Given the description of an element on the screen output the (x, y) to click on. 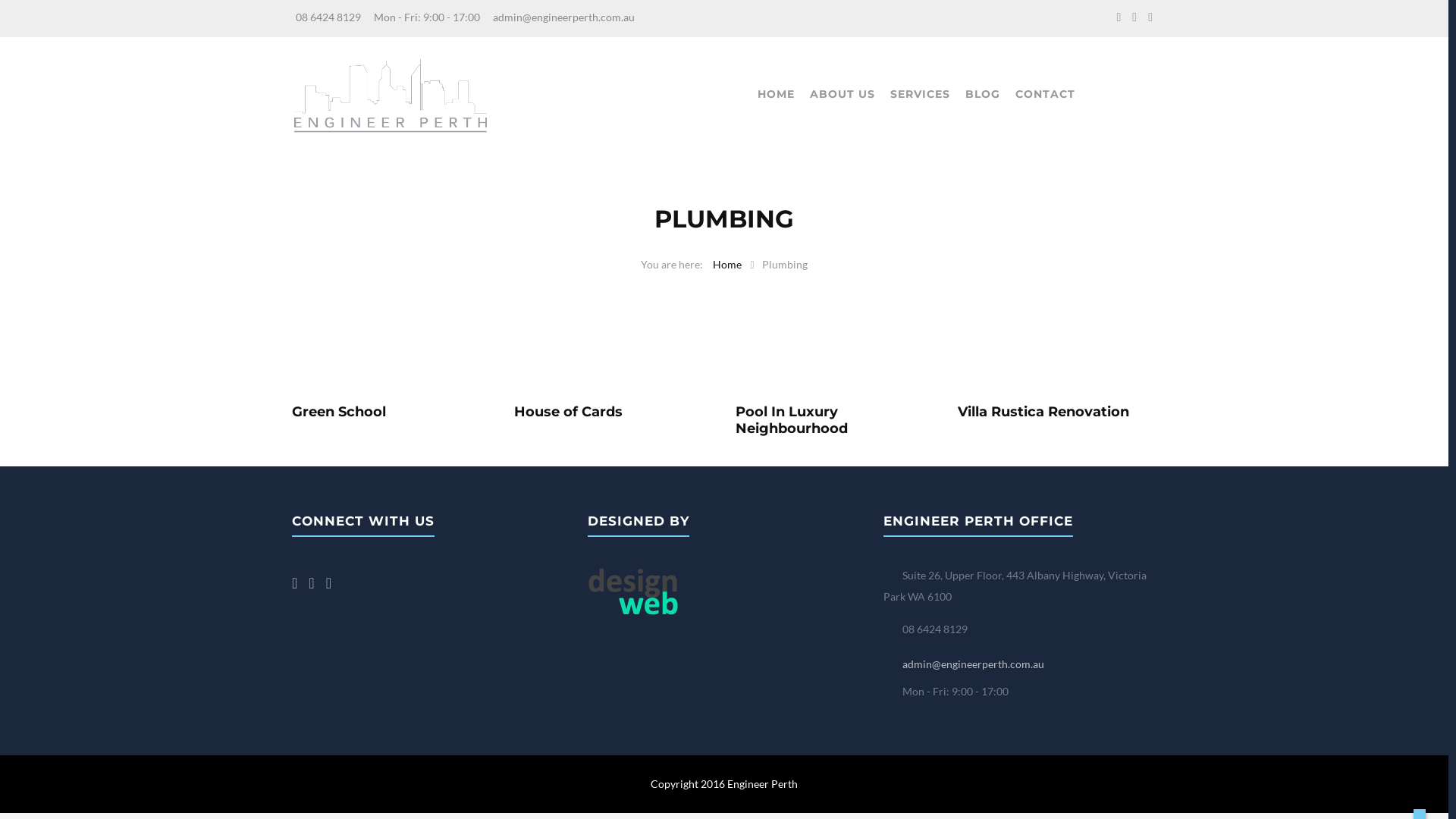
HOME Element type: text (774, 94)
admin@engineerperth.com.au Element type: text (973, 663)
ABOUT US Element type: text (842, 94)
Search Element type: text (40, 16)
SERVICES Element type: text (920, 94)
Home Element type: text (726, 263)
CONTACT Element type: text (1044, 94)
Green School Element type: text (391, 412)
Pool In Luxury Neighbourhood Element type: text (835, 420)
Villa Rustica Renovation Element type: text (1056, 412)
House of Cards Element type: text (613, 412)
admin@engineerperth.com.au Element type: text (563, 16)
BLOG Element type: text (981, 94)
